Given the description of an element on the screen output the (x, y) to click on. 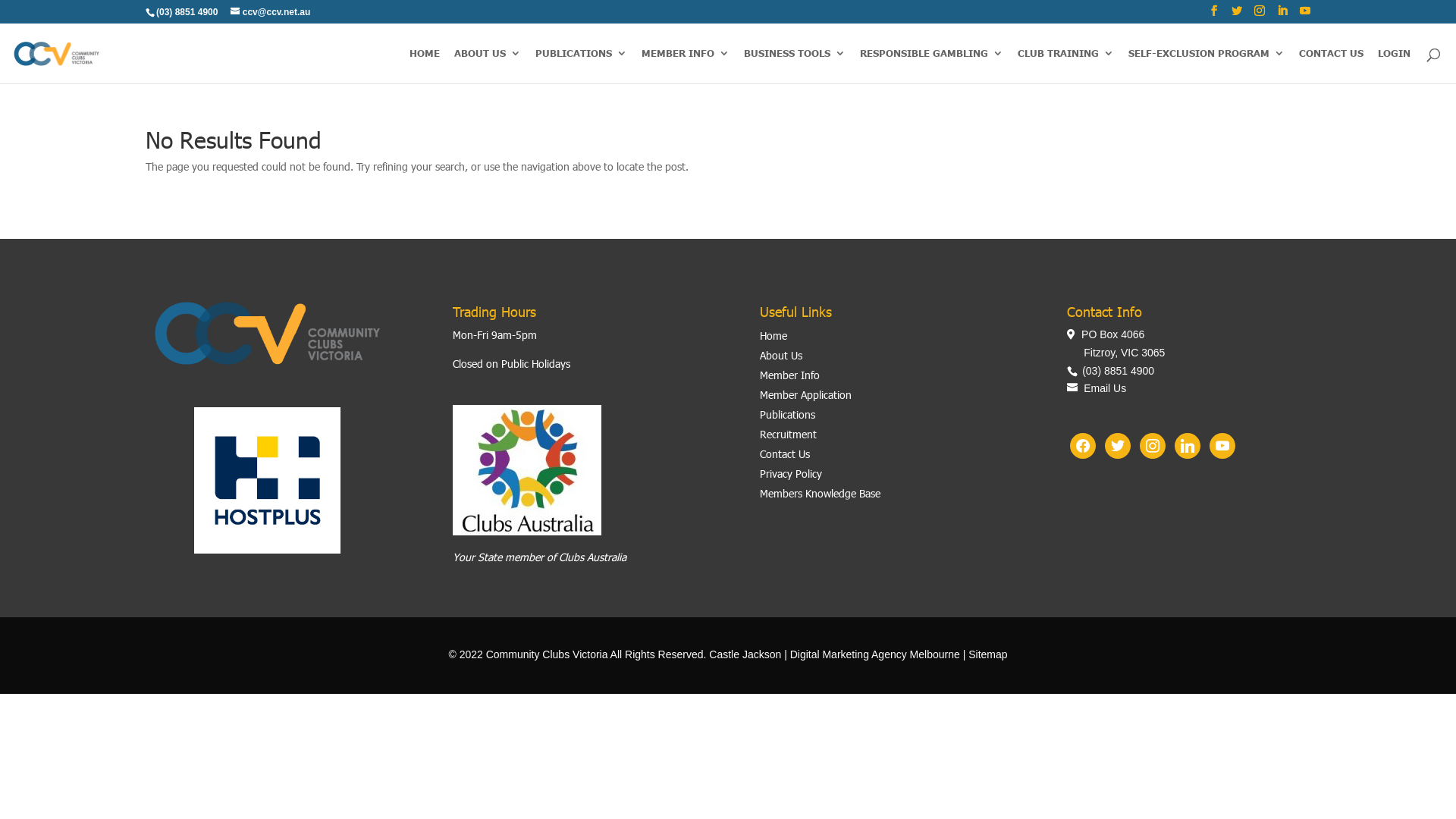
HOME Element type: text (424, 65)
Email Us Element type: text (1096, 388)
Members Knowledge Base Element type: text (819, 493)
SELF-EXCLUSION PROGRAM Element type: text (1206, 65)
twitter Element type: text (1117, 444)
HP_MB_Square_Pos_RGB Element type: hover (266, 479)
RESPONSIBLE GAMBLING Element type: text (931, 65)
CCV_ClubsAustralia-white Element type: hover (526, 469)
BUSINESS TOOLS Element type: text (794, 65)
Recruitment Element type: text (787, 433)
ccv@ccv.net.au Element type: text (270, 11)
CLUB TRAINING Element type: text (1065, 65)
instagram Element type: text (1152, 444)
About Us Element type: text (780, 355)
Contact Us Element type: text (784, 453)
CONTACT US Element type: text (1331, 65)
facebook Element type: text (1082, 444)
Member Application Element type: text (805, 394)
linkedin Element type: text (1187, 444)
(03) 8851 4900 Element type: text (1116, 370)
Sitemap Element type: text (987, 654)
Member Info Element type: text (789, 374)
MEMBER INFO Element type: text (685, 65)
LOGIN Element type: text (1393, 65)
Digital Marketing Agency Melbourne Element type: text (875, 654)
ABOUT US Element type: text (487, 65)
Home Element type: text (773, 335)
Privacy Policy Element type: text (790, 473)
PUBLICATIONS Element type: text (581, 65)
Ccv Element type: hover (267, 332)
Publications Element type: text (787, 414)
youtube Element type: text (1222, 444)
